Given the description of an element on the screen output the (x, y) to click on. 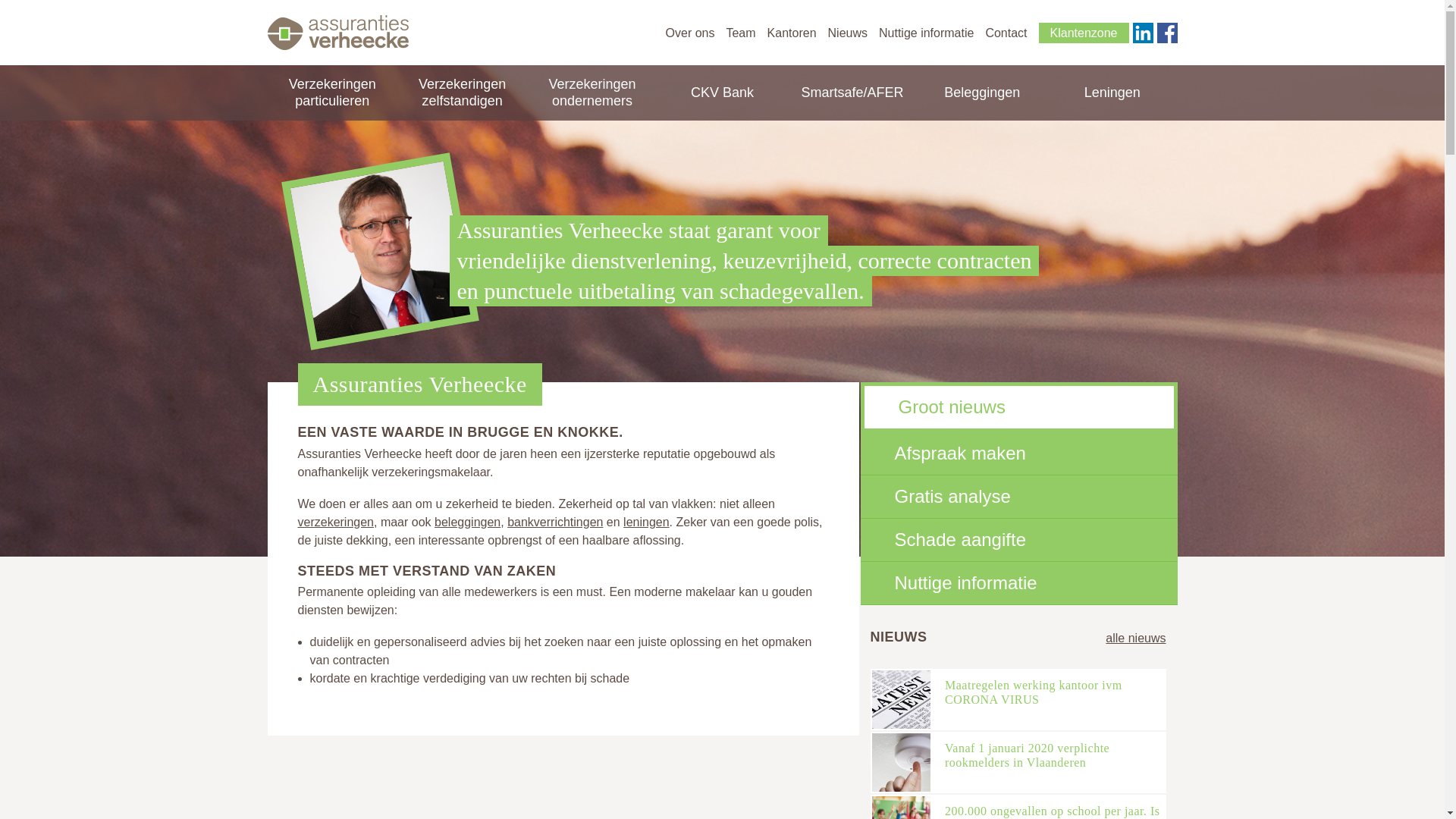
Team Element type: text (740, 32)
Verzekeringen ondernemers Element type: text (591, 92)
Vanaf 1 januari 2020 verplichte rookmelders in Vlaanderen Element type: text (1026, 754)
Afspraak maken Element type: text (1017, 453)
Linkedin Element type: text (1142, 32)
Contact Element type: text (1005, 32)
Maatregelen werking kantoor ivm CORONA VIRUS Element type: text (1033, 692)
Facebook Element type: text (1167, 32)
Verzekeringen zelfstandigen Element type: text (462, 92)
Kantoren Element type: text (791, 32)
Schade aangifte Element type: text (1017, 539)
Nuttige informatie Element type: text (1017, 582)
Nieuws Element type: text (847, 32)
leningen Element type: text (646, 521)
Beleggingen Element type: text (981, 92)
Groot nieuws Element type: text (1018, 406)
Nuttige informatie Element type: text (925, 32)
verzekeringen Element type: text (335, 521)
Home Element type: hover (336, 32)
Verzekeringen particulieren Element type: text (331, 92)
CKV Bank Element type: text (722, 92)
Gratis analyse Element type: text (1017, 496)
Over ons Element type: text (690, 32)
Leningen Element type: text (1112, 92)
beleggingen Element type: text (467, 521)
bankverrichtingen Element type: text (554, 521)
alle nieuws Element type: text (1135, 637)
Smartsafe/AFER Element type: text (851, 92)
Klantenzone Element type: text (1083, 32)
Overslaan en naar de algemene inhoud gaan Element type: text (107, 0)
